Given the description of an element on the screen output the (x, y) to click on. 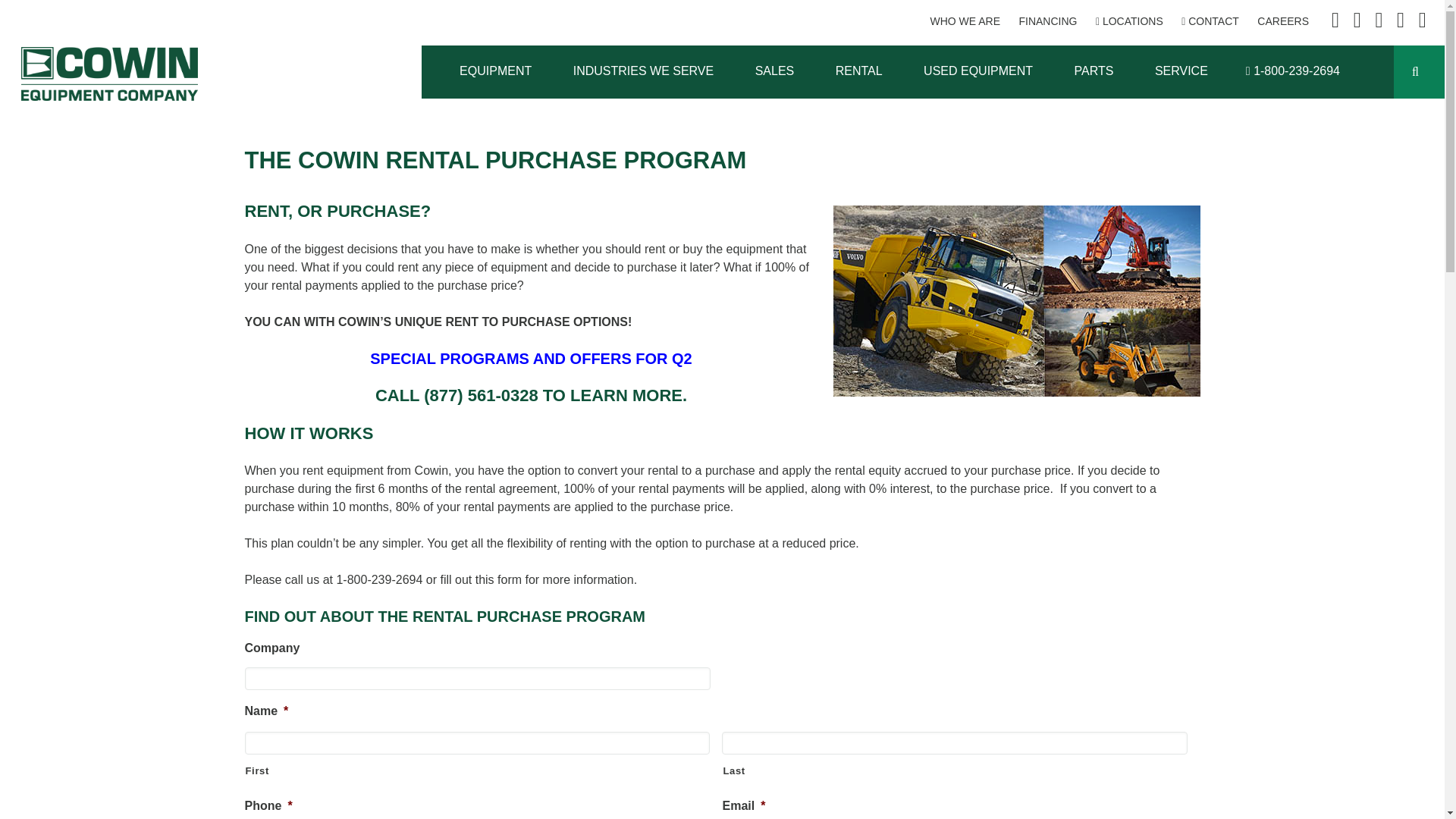
EQUIPMENT (495, 70)
LOCATIONS (1129, 21)
CAREERS (1282, 21)
COWIN EQUIPMENT COMPANY, INC. (109, 73)
FINANCING (1047, 21)
CONTACT (1209, 21)
WHO WE ARE (965, 21)
